Given the description of an element on the screen output the (x, y) to click on. 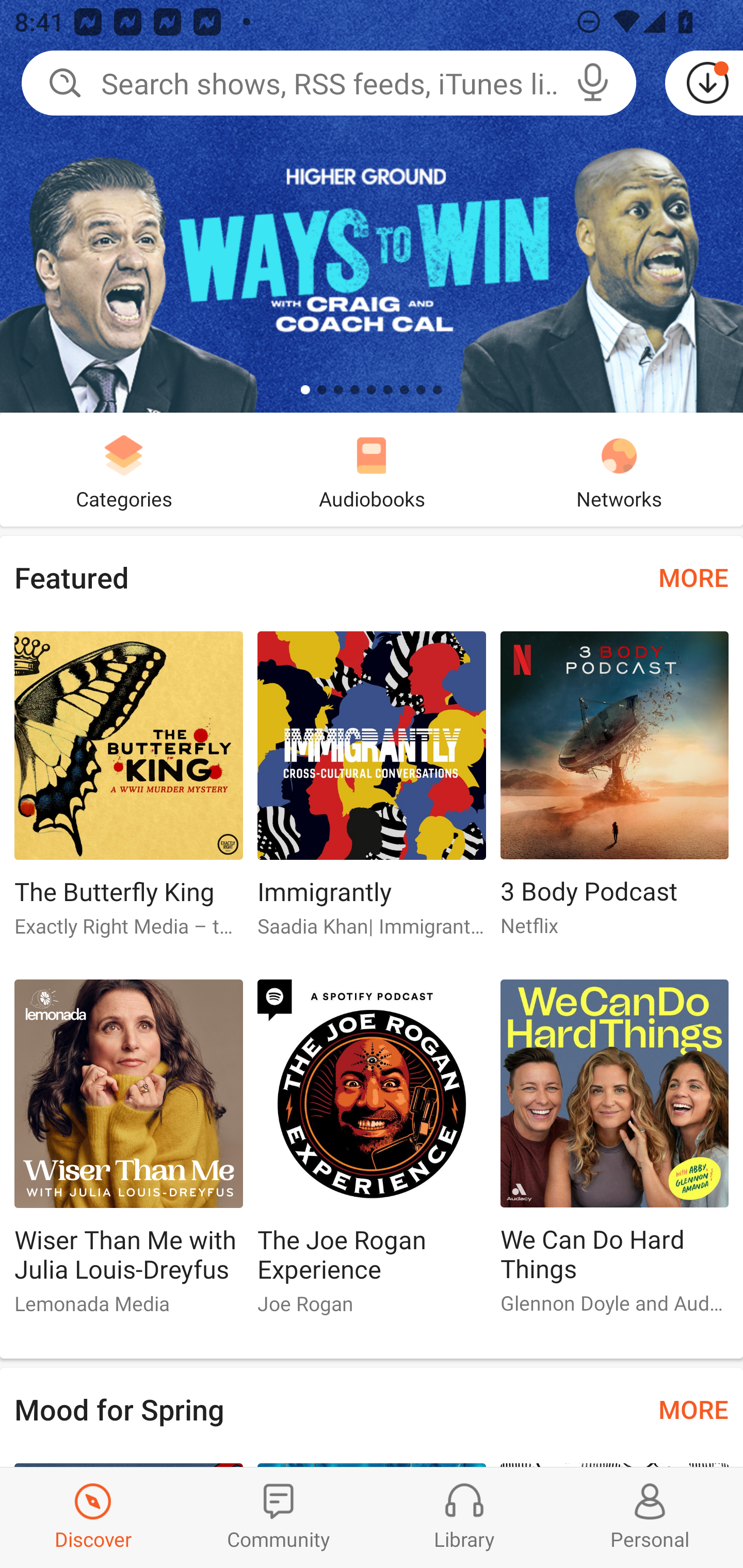
Ways To Win (371, 206)
Categories (123, 469)
Audiobooks (371, 469)
Networks (619, 469)
MORE (693, 576)
3 Body Podcast 3 Body Podcast Netflix (614, 792)
MORE (693, 1409)
Discover (92, 1517)
Community (278, 1517)
Library (464, 1517)
Profiles and Settings Personal (650, 1517)
